Given the description of an element on the screen output the (x, y) to click on. 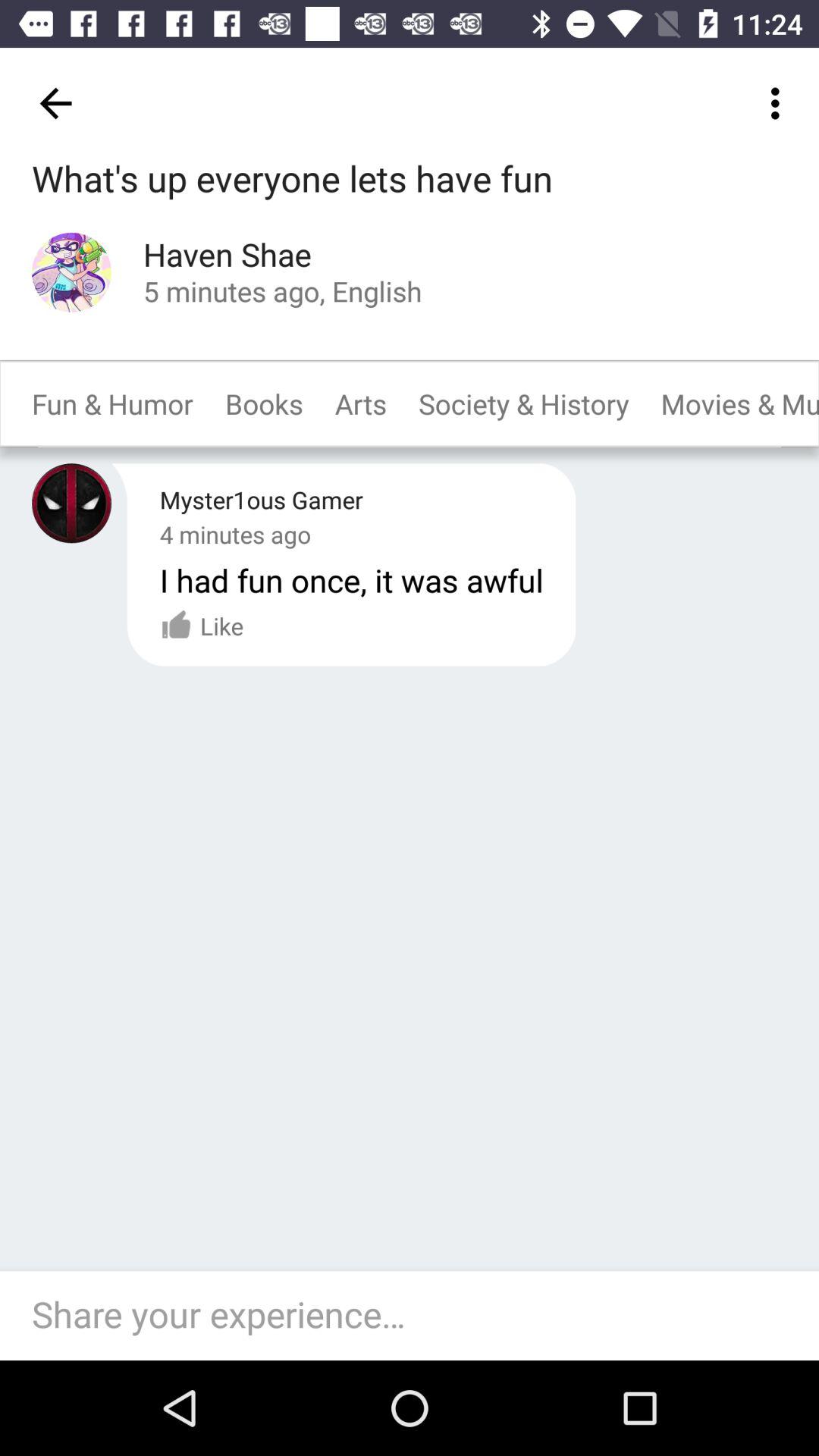
go to previous (71, 503)
